Given the description of an element on the screen output the (x, y) to click on. 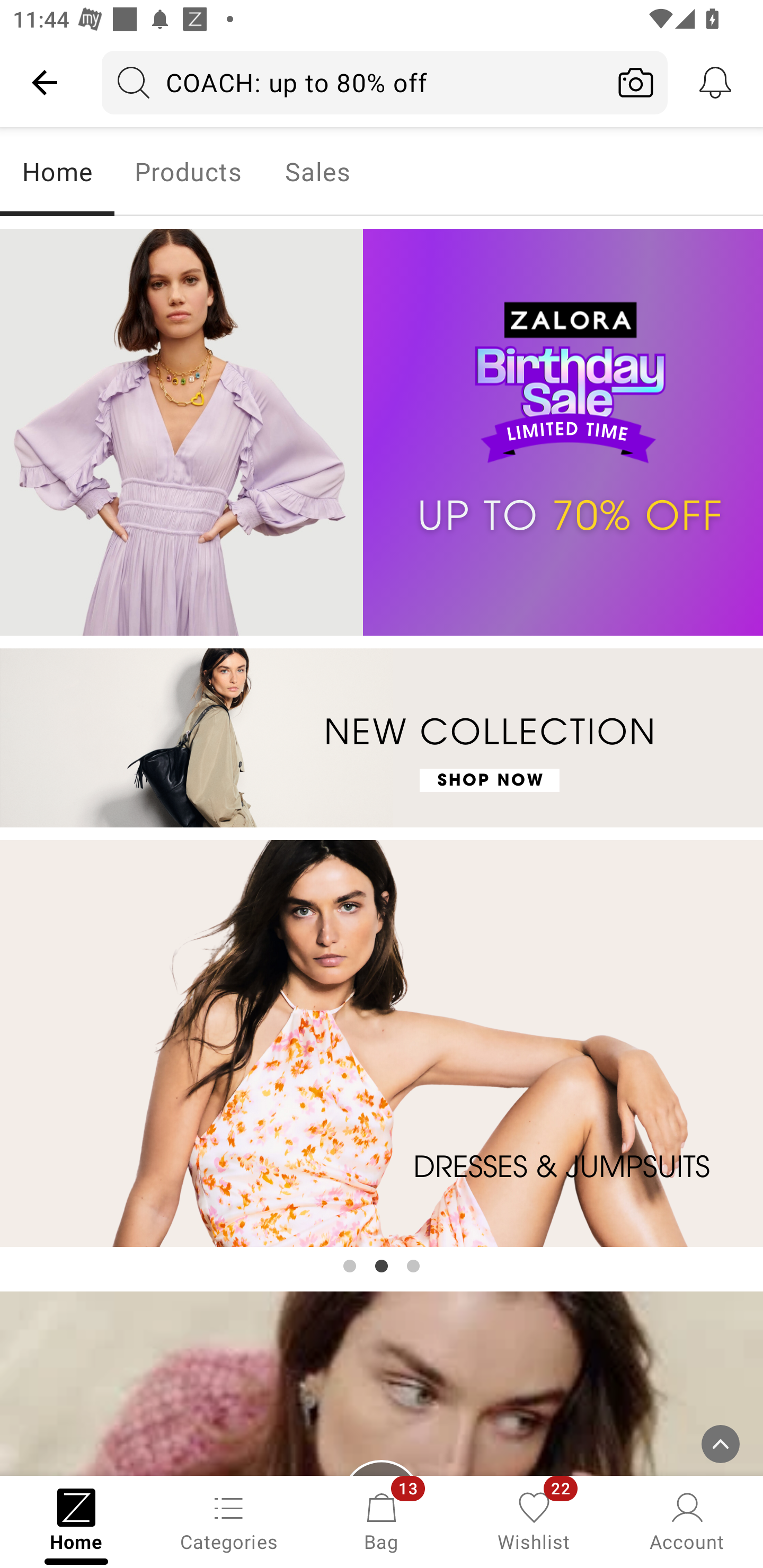
Navigate up (44, 82)
COACH: up to 80% off (352, 82)
Products (187, 171)
Sales (317, 171)
Categories (228, 1519)
Bag, 13 new notifications Bag (381, 1519)
Wishlist, 22 new notifications Wishlist (533, 1519)
Account (686, 1519)
